Given the description of an element on the screen output the (x, y) to click on. 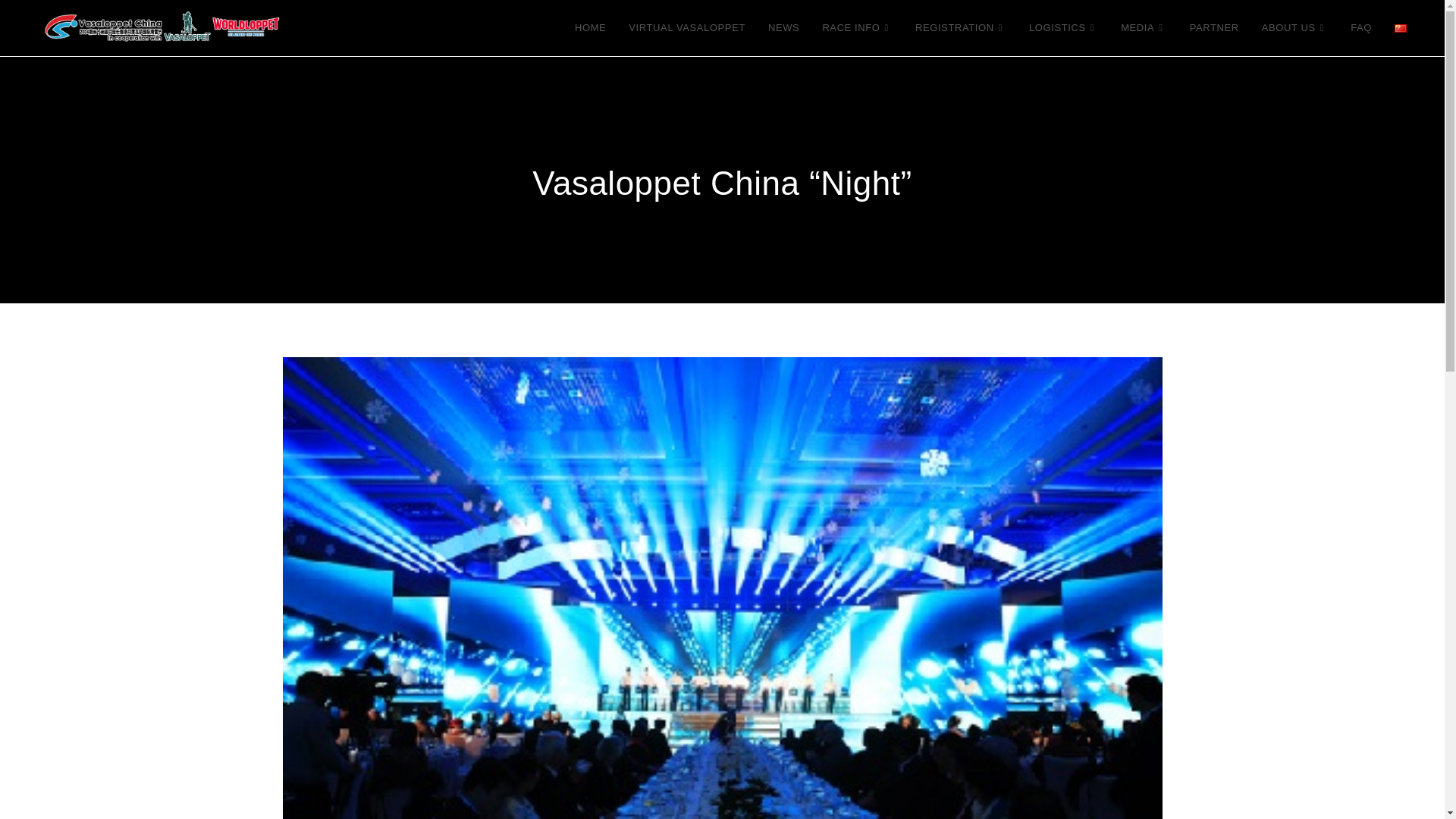
VIRTUAL VASALOPPET (687, 28)
REGISTRATION (960, 28)
ABOUT US (1294, 28)
LOGISTICS (1063, 28)
HOME (590, 28)
MEDIA (1143, 28)
RACE INFO (857, 28)
NEWS (783, 28)
PARTNER (1213, 28)
